Given the description of an element on the screen output the (x, y) to click on. 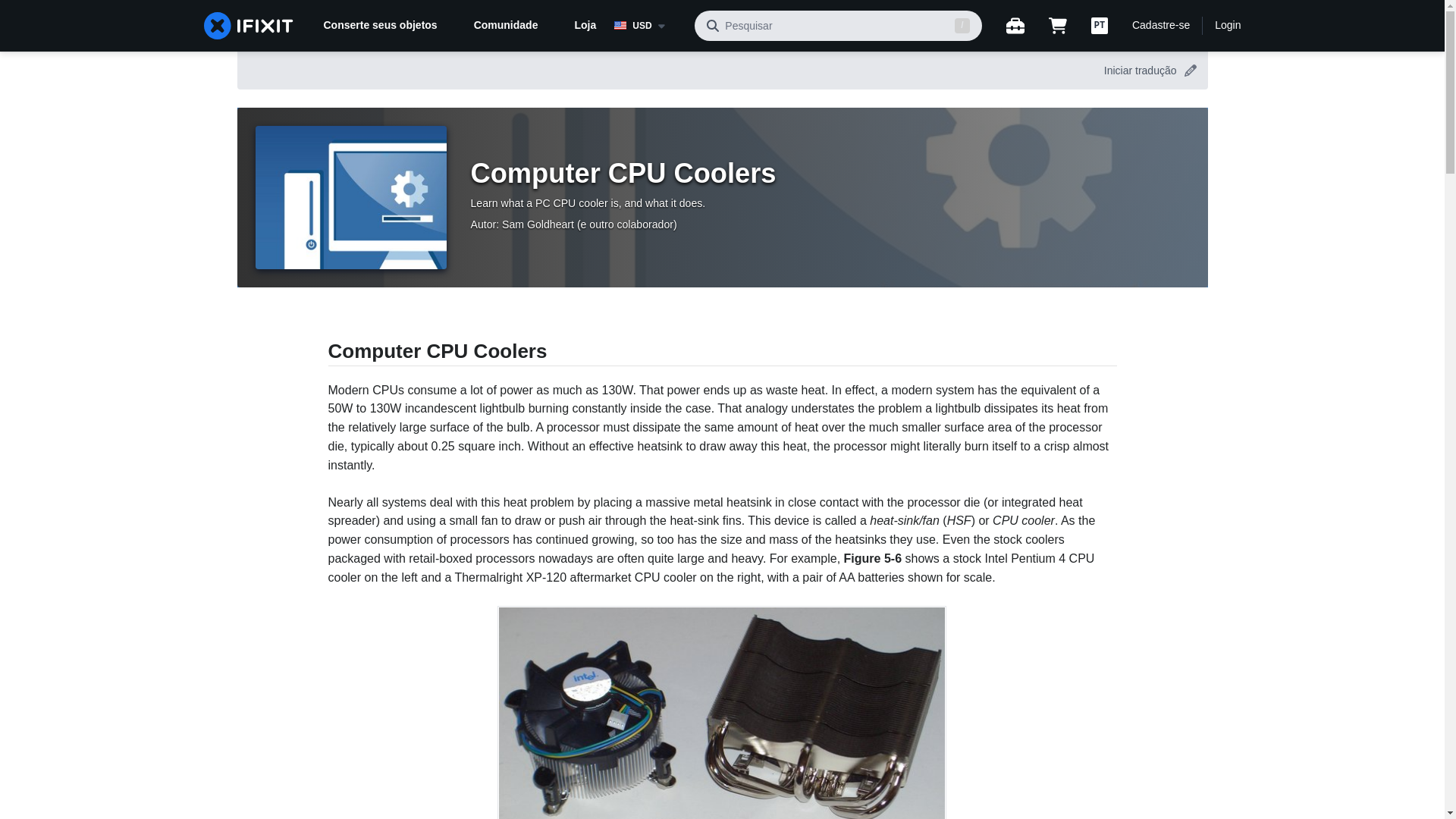
USD (648, 25)
Sam Goldheart (537, 224)
Login (1227, 25)
Cadastre-se (1160, 25)
